Given the description of an element on the screen output the (x, y) to click on. 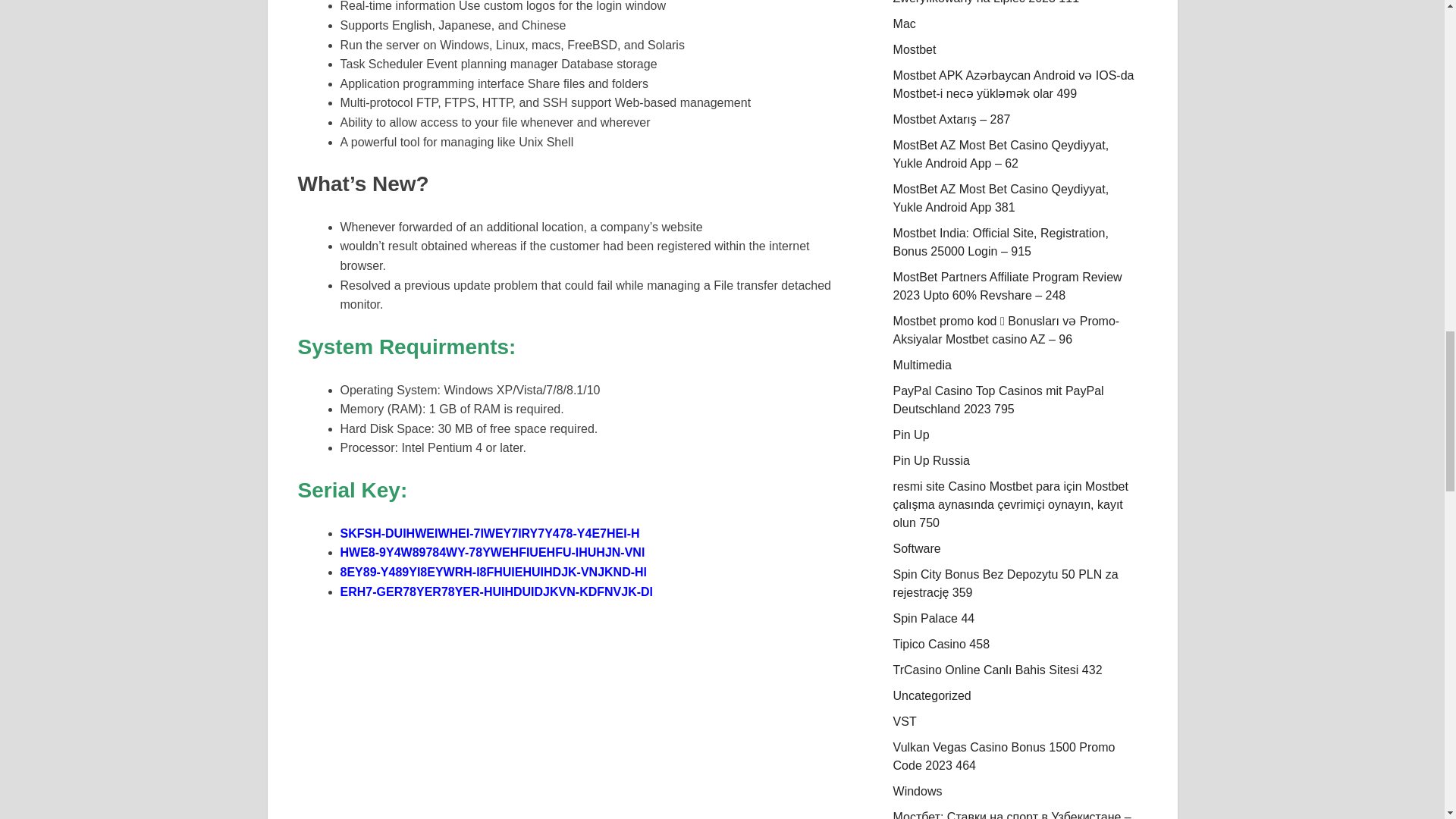
Wing FTP Server (575, 719)
